Given the description of an element on the screen output the (x, y) to click on. 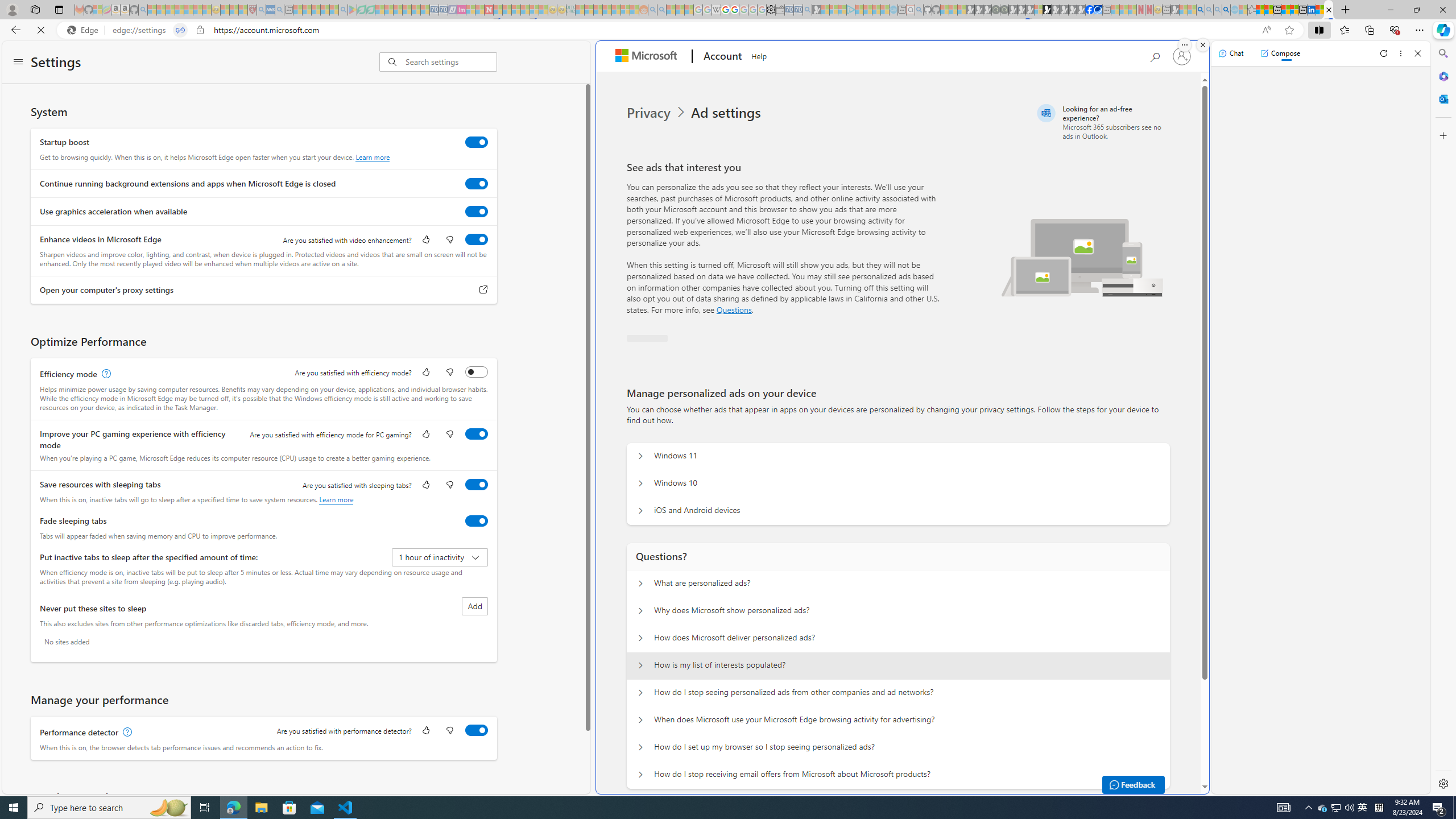
Sign in to your account - Sleeping (1038, 9)
utah sues federal government - Search - Sleeping (279, 9)
Aberdeen, Hong Kong SAR weather forecast | Microsoft Weather (1268, 9)
Questions? What are personalized ads? (640, 583)
Edge (84, 29)
Target page - Wikipedia - Sleeping (716, 9)
AQI & Health | AirNow.gov (1098, 9)
